Given the description of an element on the screen output the (x, y) to click on. 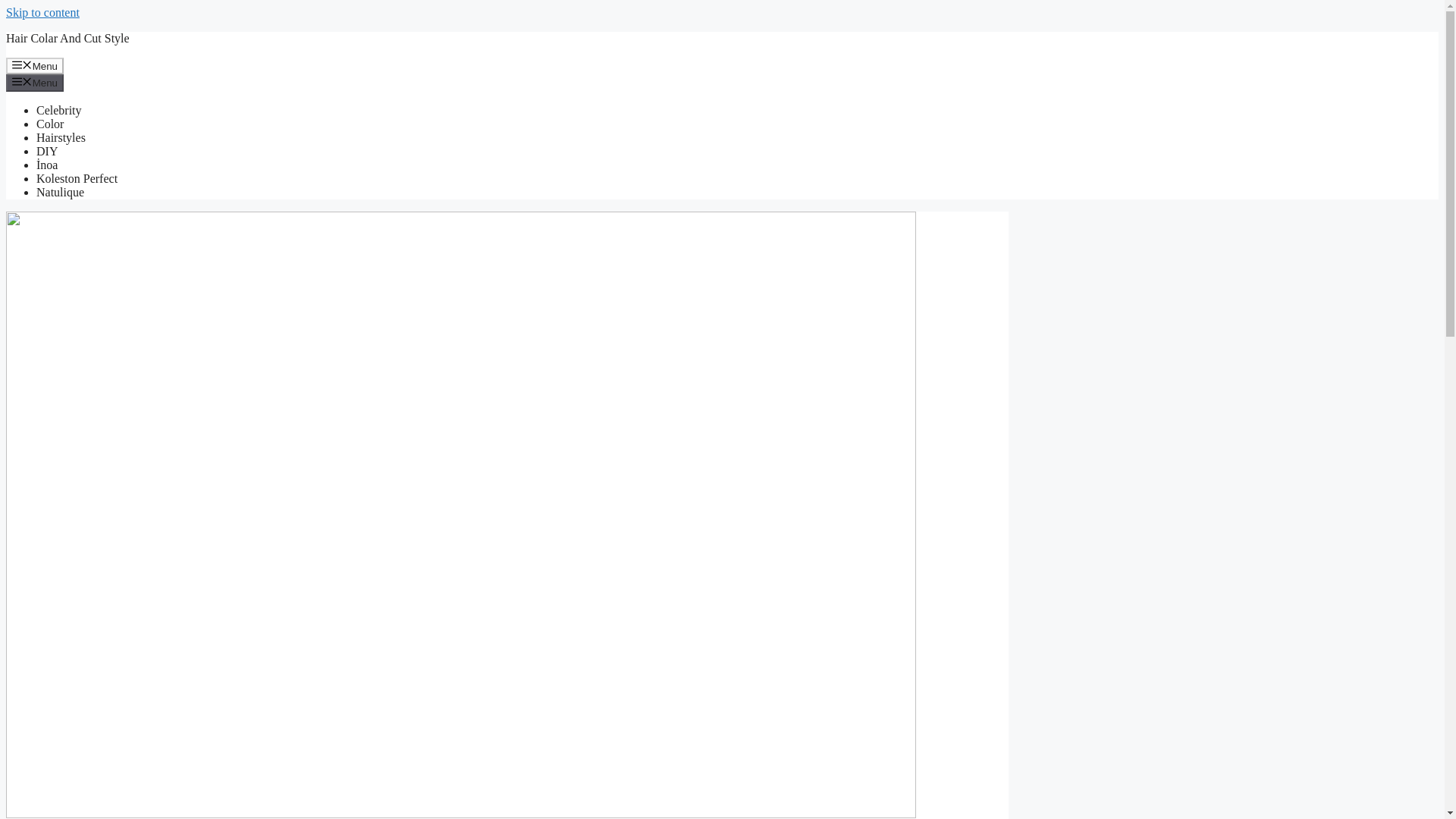
Menu (34, 82)
Celebrity (58, 110)
Skip to content (42, 11)
Menu (34, 65)
Skip to content (42, 11)
Color (50, 123)
DIY (47, 151)
Koleston Perfect (76, 178)
Hair Colar And Cut Style (67, 38)
Hairstyles (60, 137)
Natulique (60, 192)
